Given the description of an element on the screen output the (x, y) to click on. 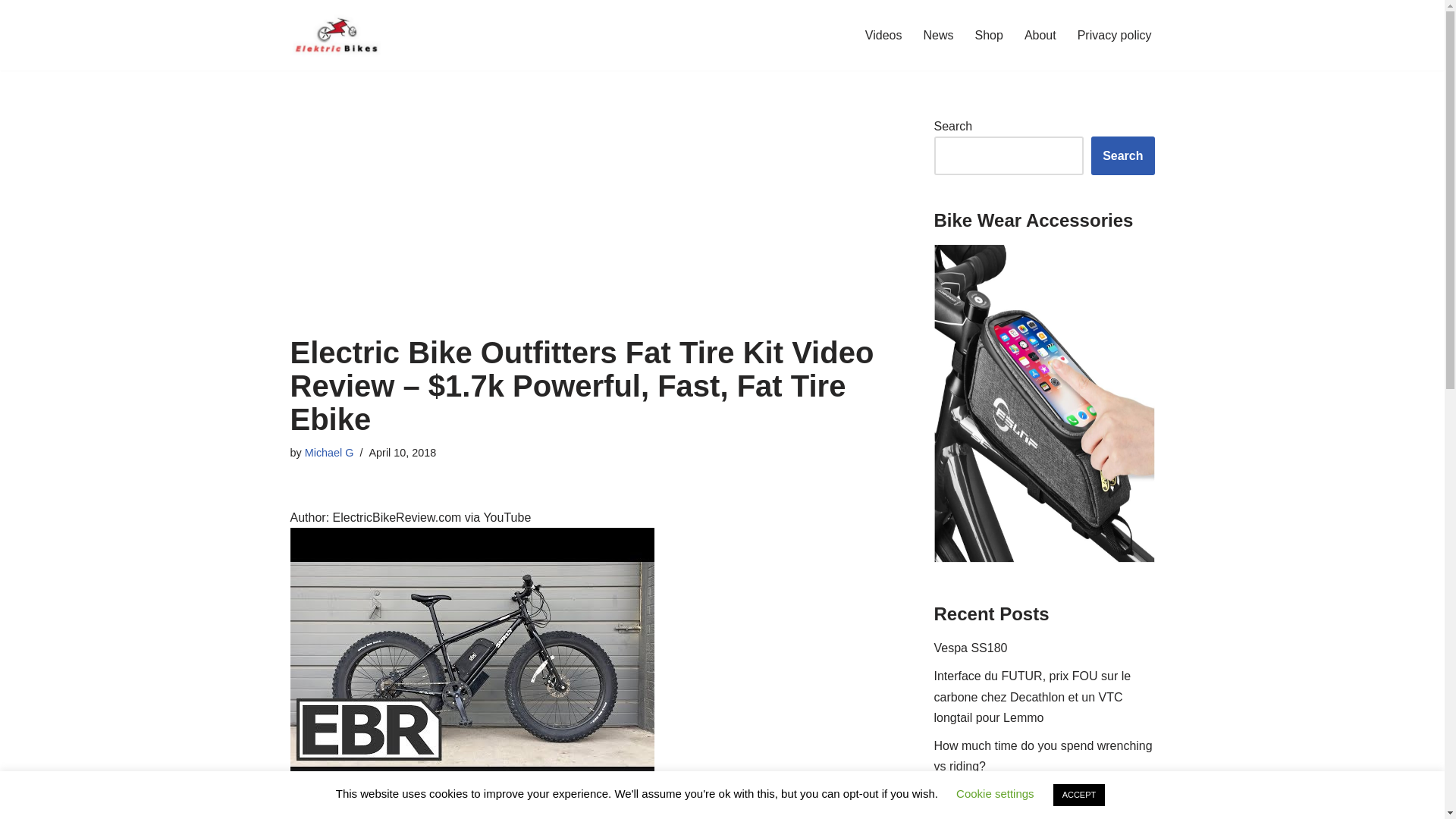
About (1041, 35)
Search (1122, 156)
Advertisement (588, 222)
Posts by Michael G (328, 452)
News (938, 35)
Shop (989, 35)
Skip to content (11, 31)
Vespa SS180 (970, 647)
How much time do you spend wrenching vs riding? (1043, 756)
Videos (883, 35)
Michael G (328, 452)
Privacy policy (1114, 35)
Cruising around Knoxville Iowa on a TT1600R (1030, 803)
